Given the description of an element on the screen output the (x, y) to click on. 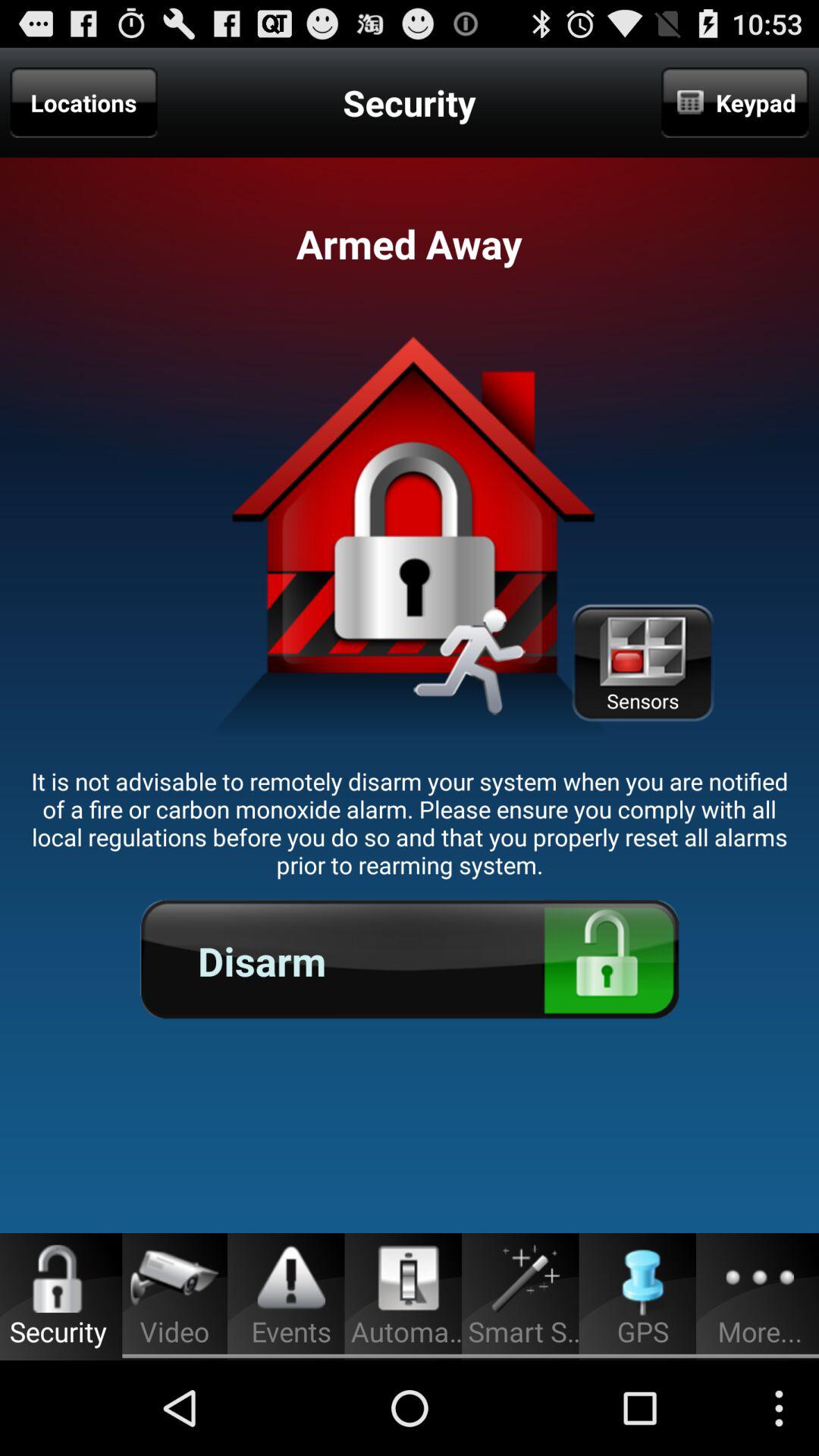
choose the icon next to security app (734, 102)
